Given the description of an element on the screen output the (x, y) to click on. 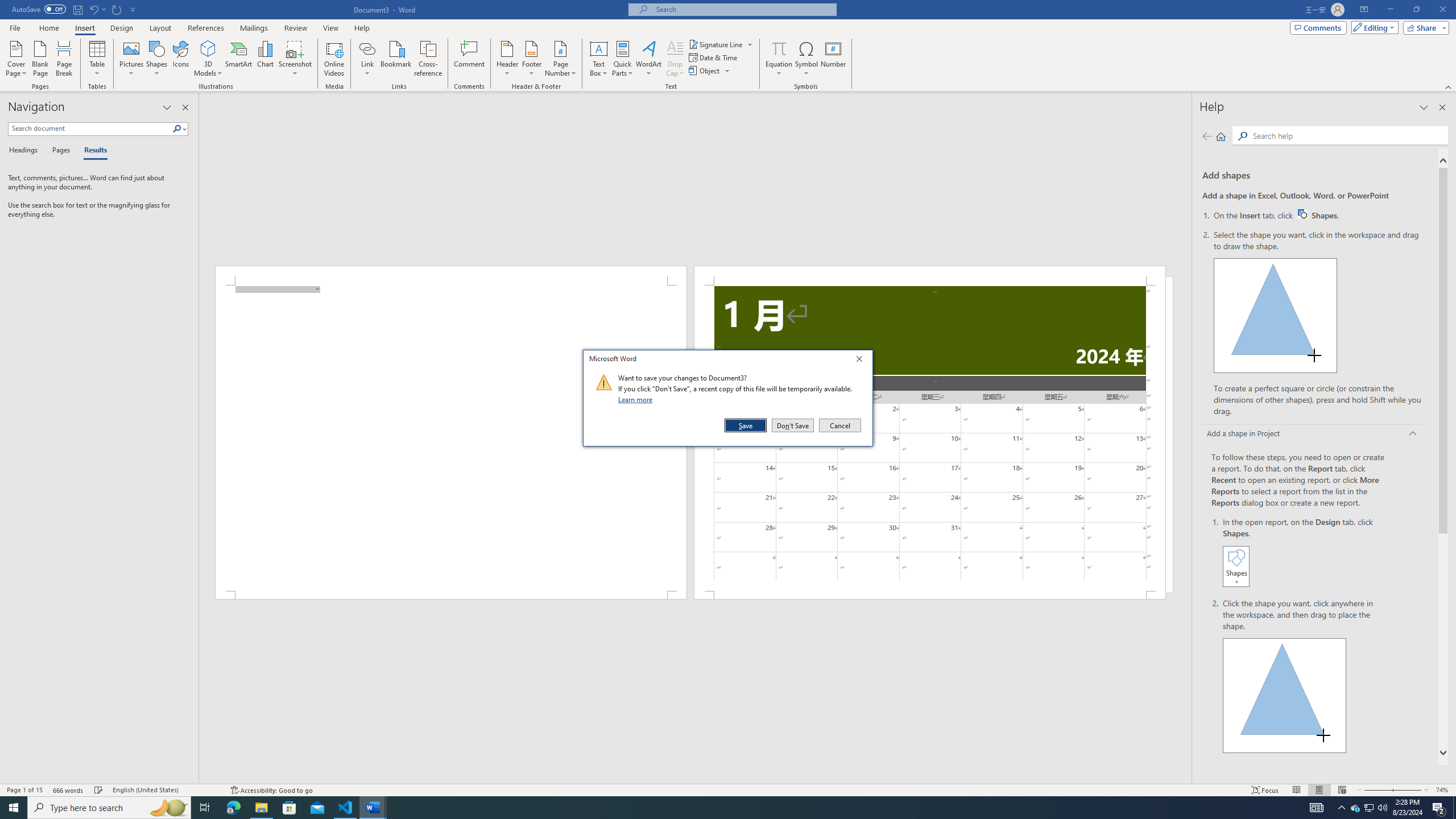
WordArt (648, 58)
Symbol (806, 58)
Page Number Page 1 of 15 (24, 790)
Blank Page (40, 58)
Link (367, 48)
Results (91, 150)
Q2790: 100% (1318, 214)
Insert Shapes button (1382, 807)
